Given the description of an element on the screen output the (x, y) to click on. 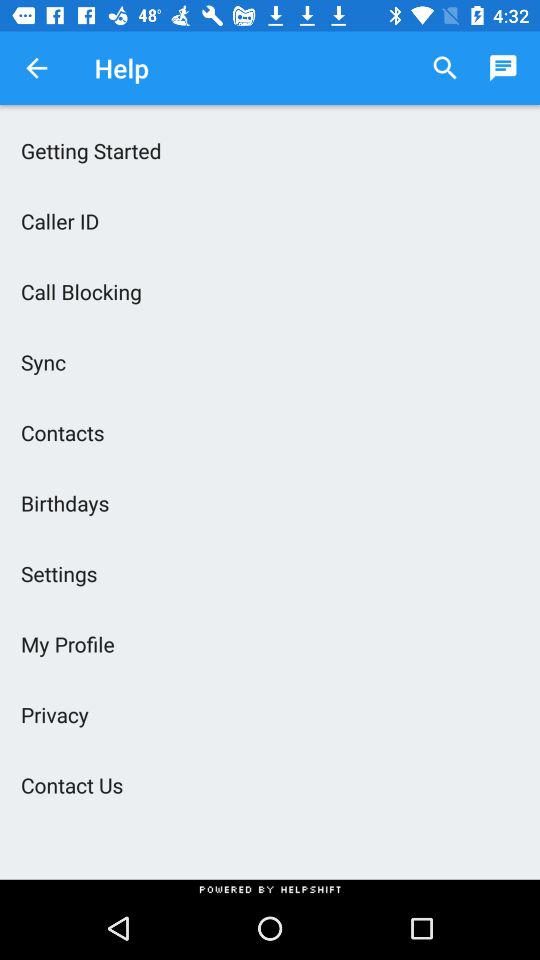
turn on contacts item (270, 432)
